Given the description of an element on the screen output the (x, y) to click on. 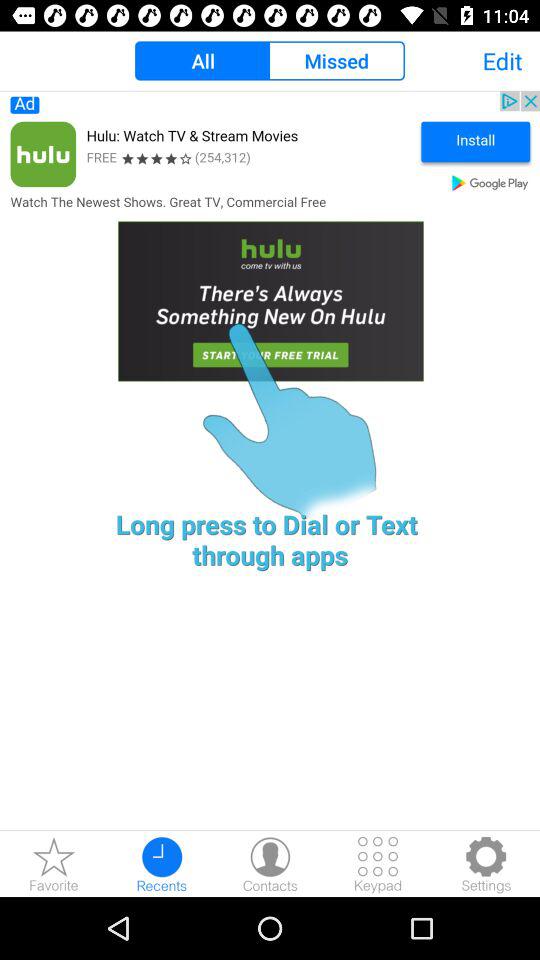
recent activity (161, 864)
